Given the description of an element on the screen output the (x, y) to click on. 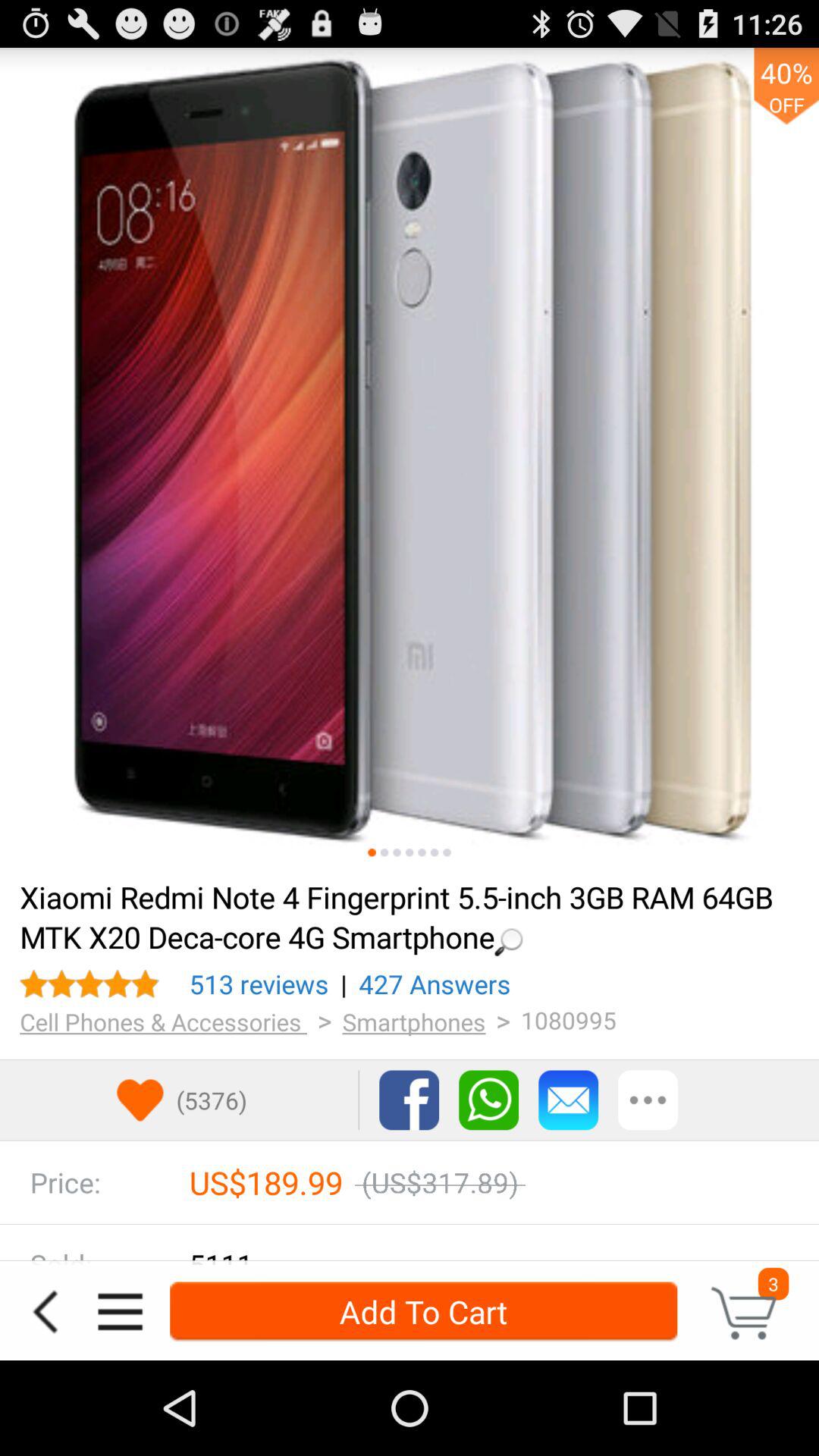
open the app next to the > (163, 1021)
